Given the description of an element on the screen output the (x, y) to click on. 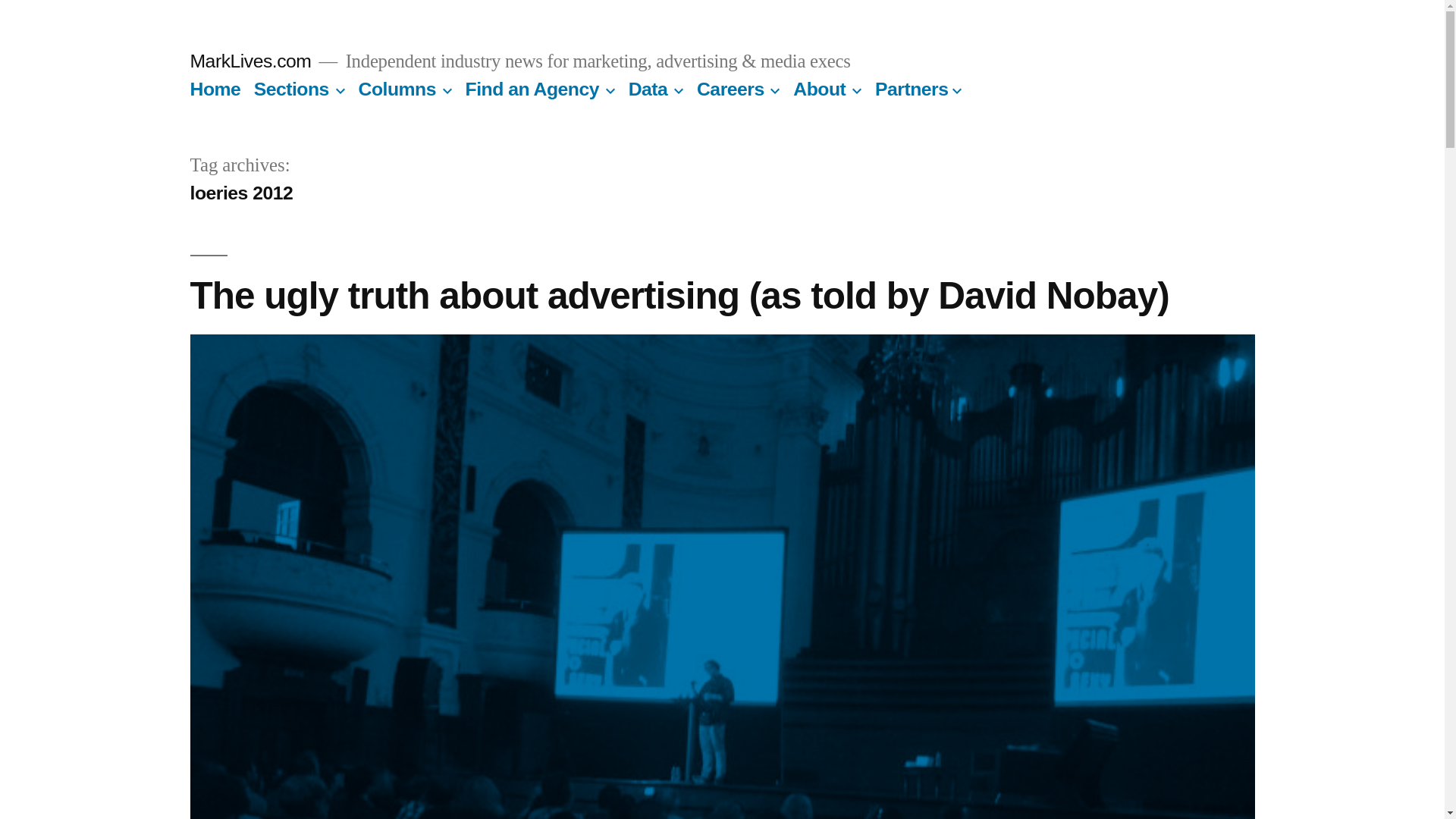
Sections (291, 88)
Columns (396, 88)
MarkLives.com (250, 60)
Home (214, 88)
